Given the description of an element on the screen output the (x, y) to click on. 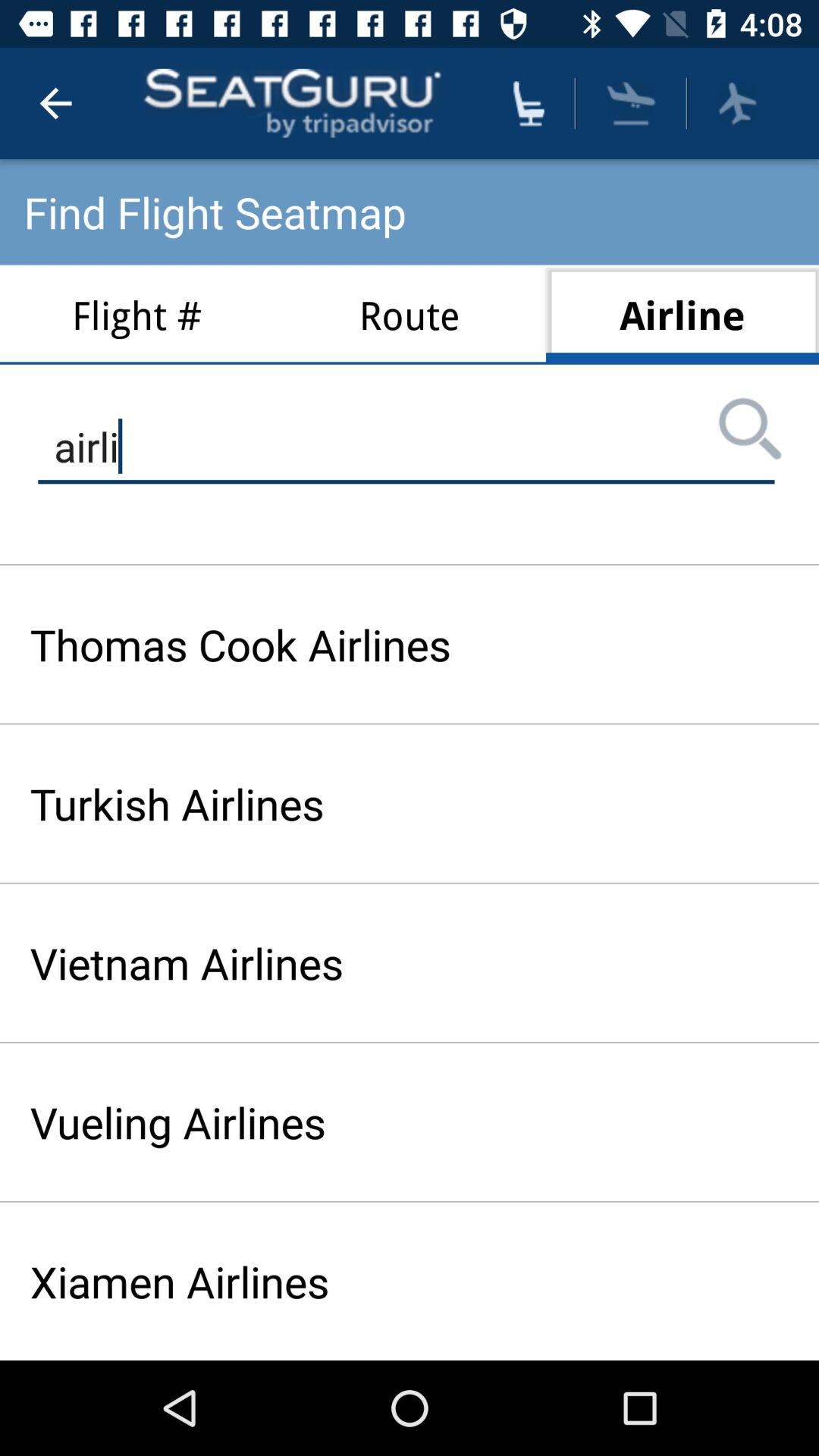
view seat reservations (528, 103)
